Given the description of an element on the screen output the (x, y) to click on. 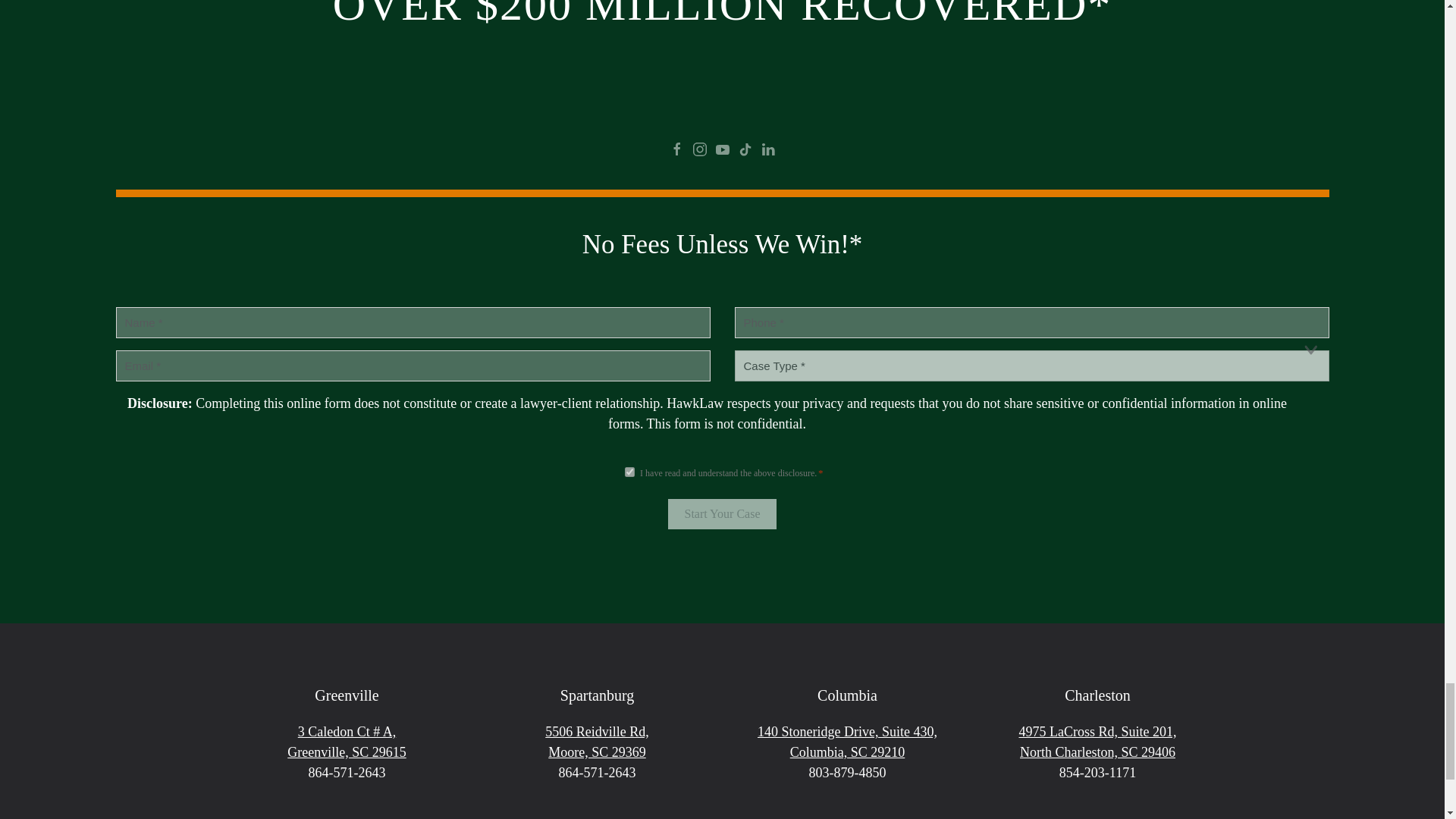
Start Your Case (722, 513)
